Given the description of an element on the screen output the (x, y) to click on. 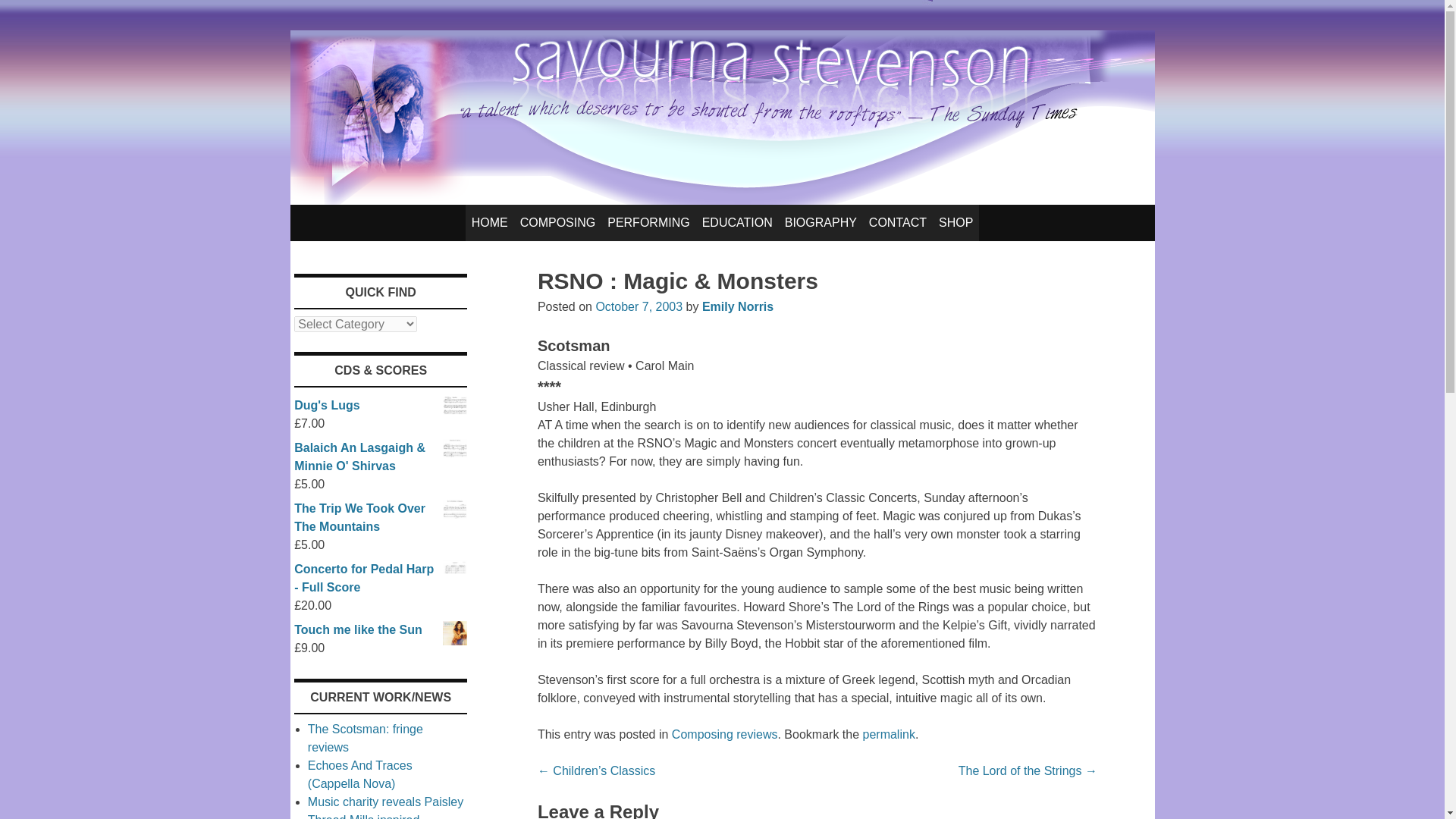
Concerto for Pedal Harp - Full Score (380, 578)
HOME (489, 222)
Composing reviews (724, 734)
SHOP (955, 222)
View all posts by Emily Norris (737, 306)
The Trip We Took Over The Mountains (380, 517)
The Scotsman: fringe reviews (365, 737)
EDUCATION (736, 222)
permalink (889, 734)
Emily Norris (737, 306)
PERFORMING (648, 222)
COMPOSING (557, 222)
Touch me like the Sun (380, 629)
Dug's Lugs (380, 405)
